Given the description of an element on the screen output the (x, y) to click on. 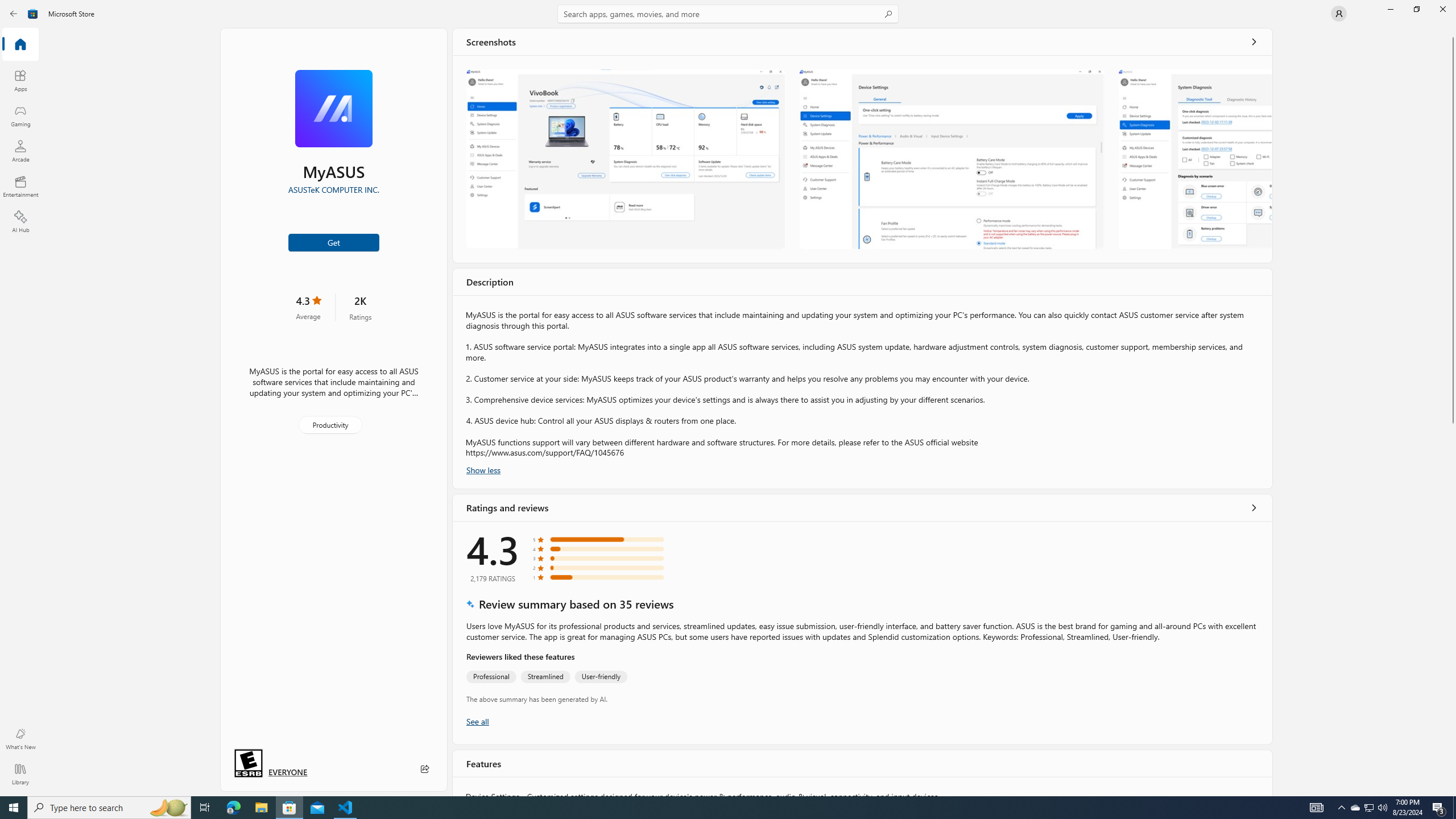
Vertical Small Decrease (1452, 31)
Vertical Small Increase (1452, 792)
Get (334, 241)
Age rating: EVERYONE. Click for more information. (287, 771)
See all (1253, 41)
4.3 stars. Click to skip to ratings and reviews (307, 306)
Search (727, 13)
ASUSTeK COMPUTER INC. (333, 189)
Share (424, 769)
Screenshot 3 (1194, 158)
